Given the description of an element on the screen output the (x, y) to click on. 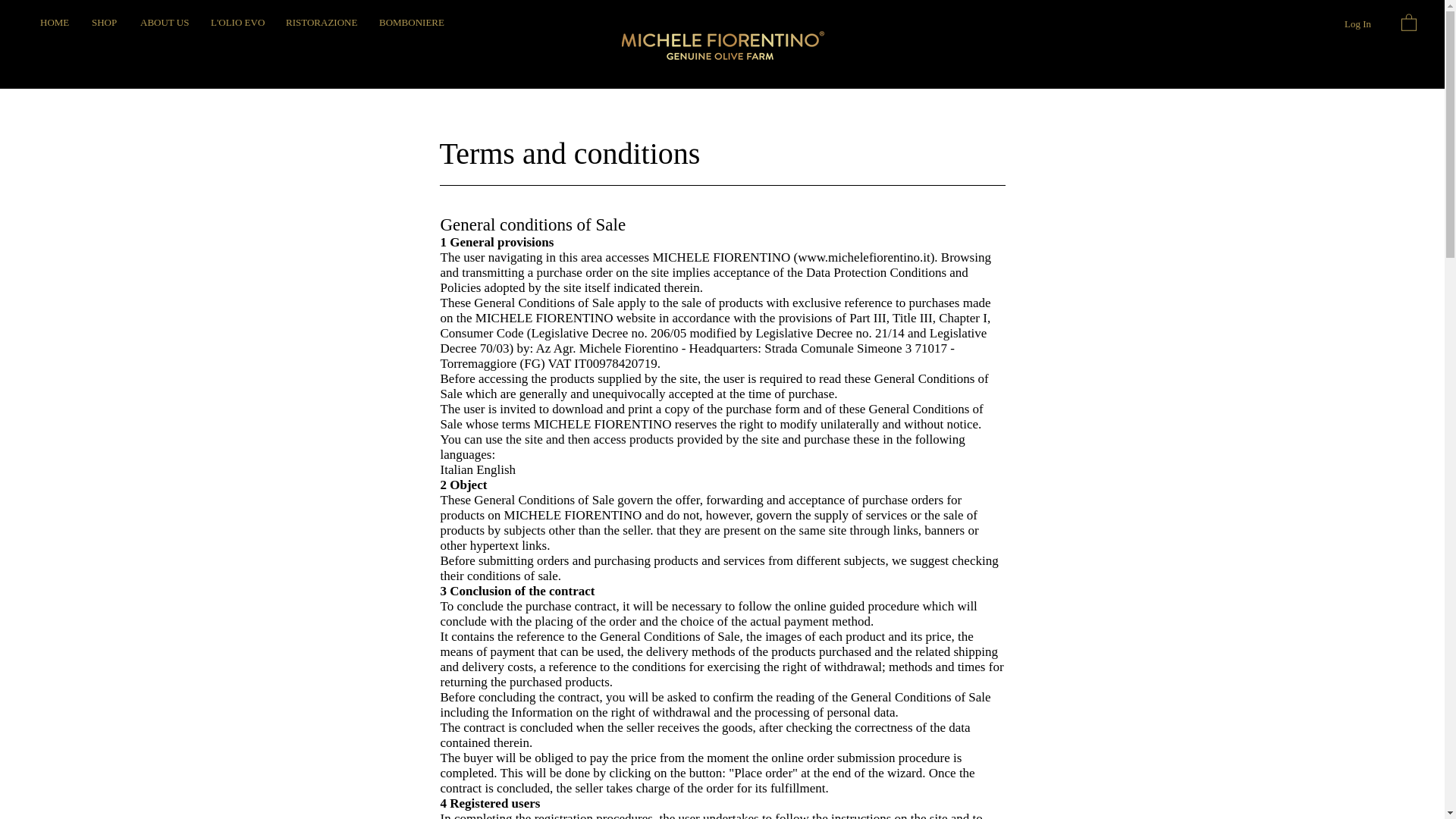
Log In (1357, 24)
ABOUT US (164, 22)
BOMBONIERE (411, 22)
www.michelefiorentino.it (863, 257)
HOME (54, 22)
SHOP (104, 22)
L'OLIO EVO (237, 22)
RISTORAZIONE (321, 22)
